Given the description of an element on the screen output the (x, y) to click on. 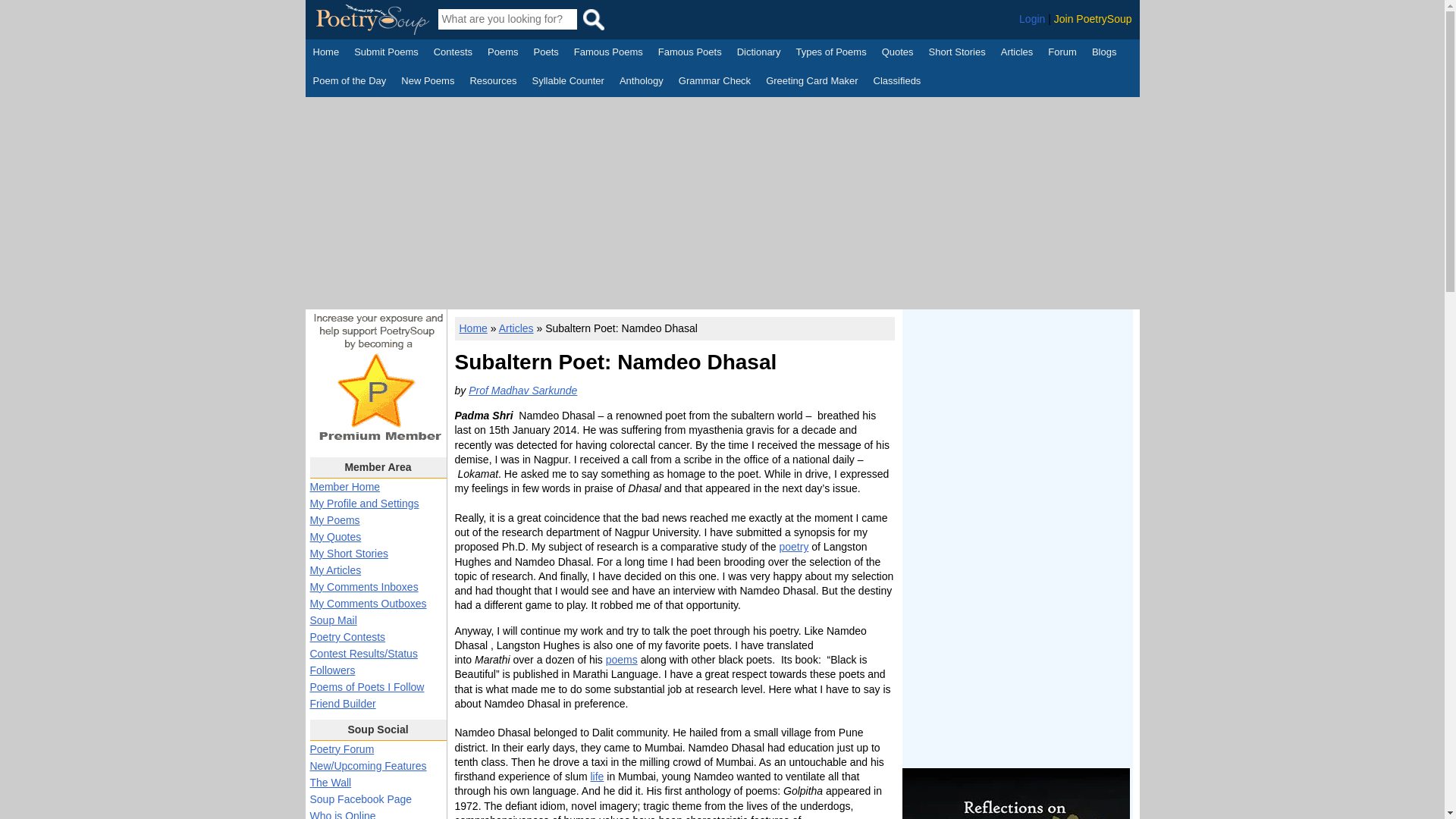
Blogs (1104, 53)
Anthology (641, 82)
Greeting Card Maker (811, 82)
Submit Poems (386, 53)
Poems (502, 53)
Syllable Counter (568, 82)
Poems (502, 53)
Submit Poems (386, 53)
Poem of the Day (349, 82)
Home (326, 53)
My Poems (333, 520)
Poetry Contests (452, 53)
Famous Poems (608, 53)
Join PoetrySoup (1093, 19)
Dictionary (758, 53)
